Given the description of an element on the screen output the (x, y) to click on. 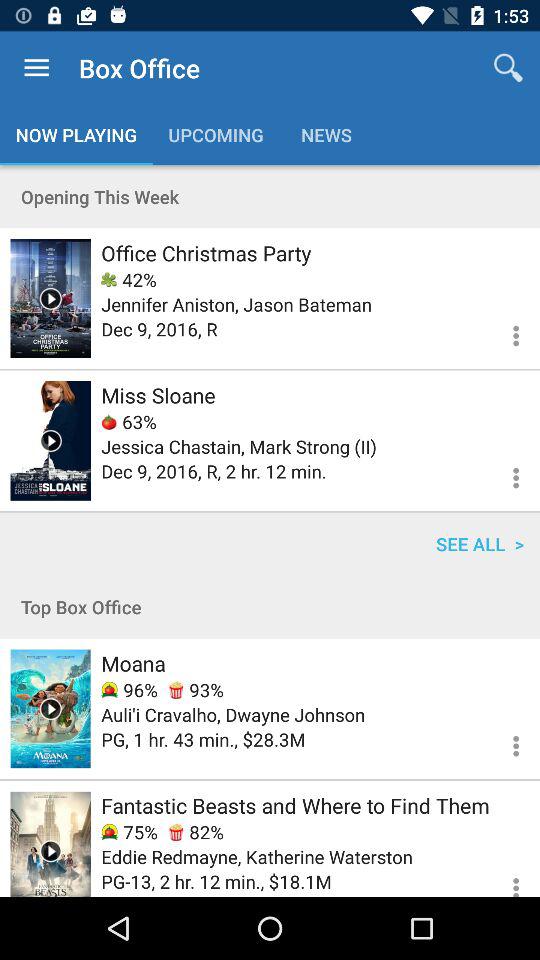
room (50, 844)
